Given the description of an element on the screen output the (x, y) to click on. 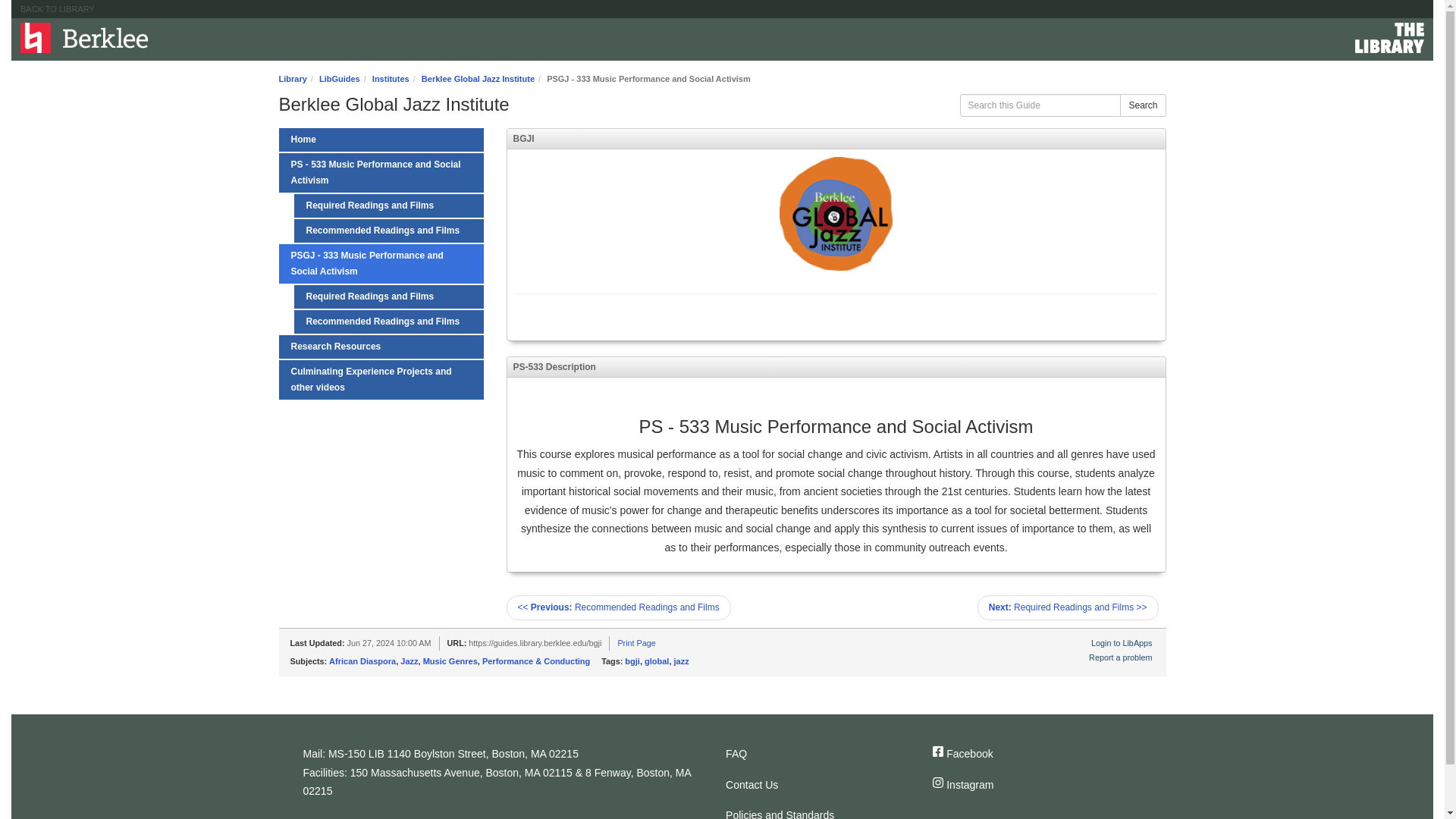
Recommended Readings and Films (388, 321)
LibGuides (338, 78)
Contact Us (816, 784)
Berklee Global Jazz Institute (478, 78)
Login to LibApps (1120, 642)
Jazz (408, 660)
Print Page (636, 642)
PS - 533 Music Performance and Social Activism (381, 172)
Institutes (390, 78)
global (656, 660)
BACK TO LIBRARY (57, 9)
Culminating Experience Projects and other videos (381, 379)
Home (84, 37)
Instagram (1023, 784)
Library (293, 78)
